Given the description of an element on the screen output the (x, y) to click on. 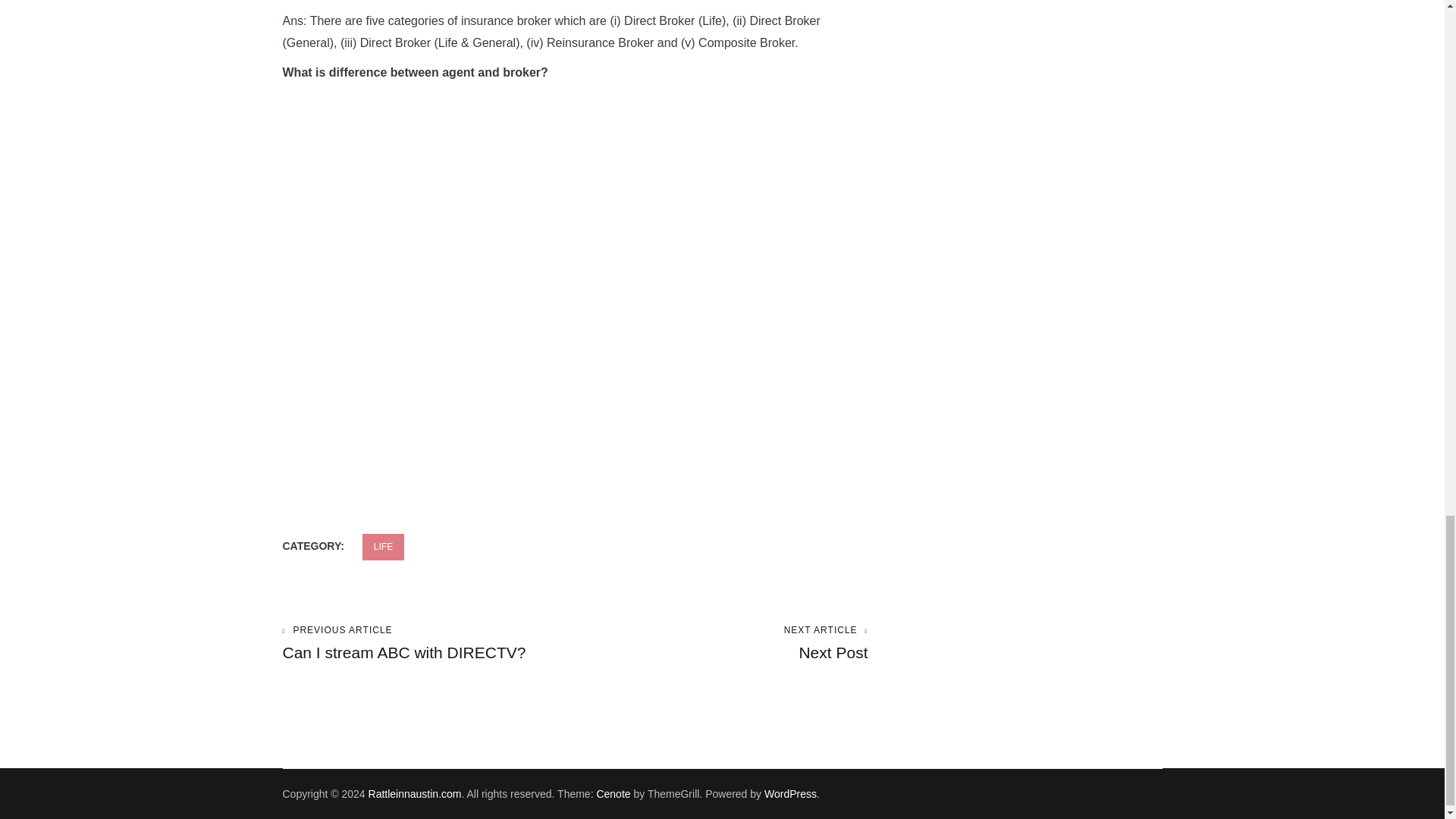
LIFE (428, 642)
Rattleinnaustin.com (383, 546)
Define Insurance Brokerage : Insurance Basics (721, 642)
